Given the description of an element on the screen output the (x, y) to click on. 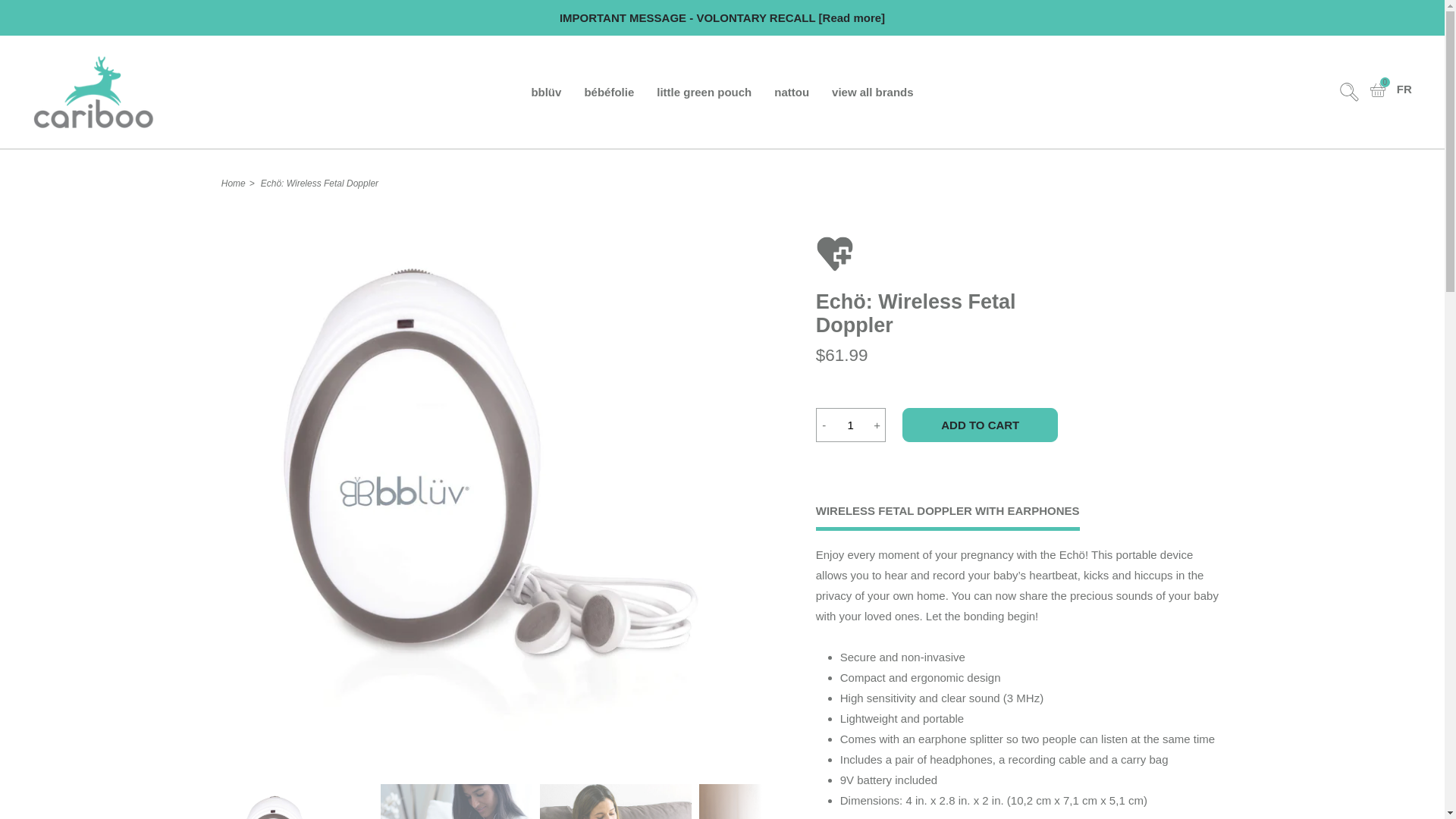
Cariboo Distribution (139, 92)
Home (233, 183)
1 (850, 424)
view all brands (872, 91)
ADD TO CART (980, 424)
Search our store (1348, 91)
FR (1404, 88)
little green pouch (703, 91)
nattou (1378, 88)
